Given the description of an element on the screen output the (x, y) to click on. 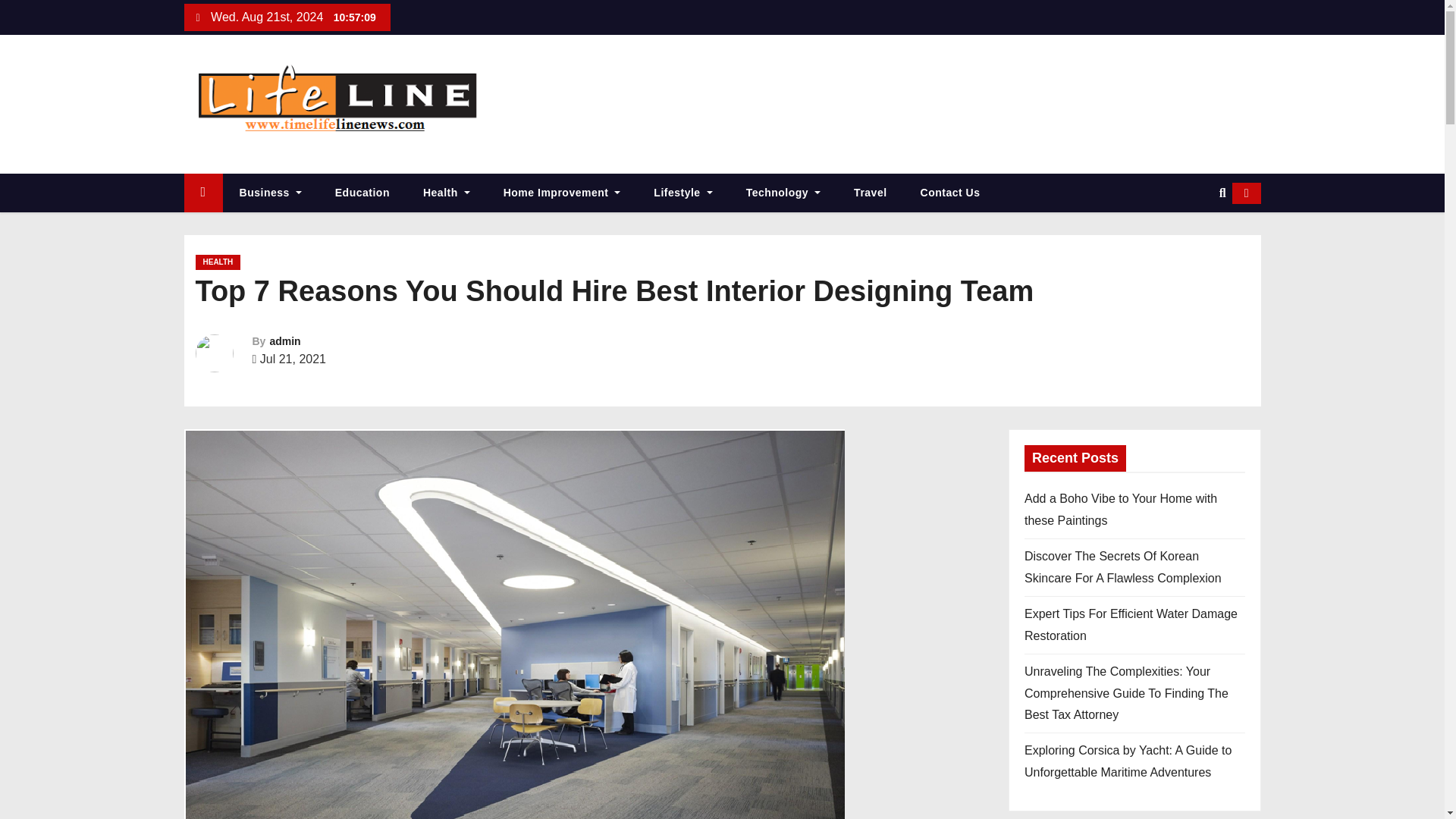
Business (270, 192)
Lifestyle (683, 192)
HEALTH (218, 262)
Education (362, 192)
Contact Us (950, 192)
Health (446, 192)
Education (362, 192)
Lifestyle (683, 192)
Travel (869, 192)
admin (284, 340)
